Given the description of an element on the screen output the (x, y) to click on. 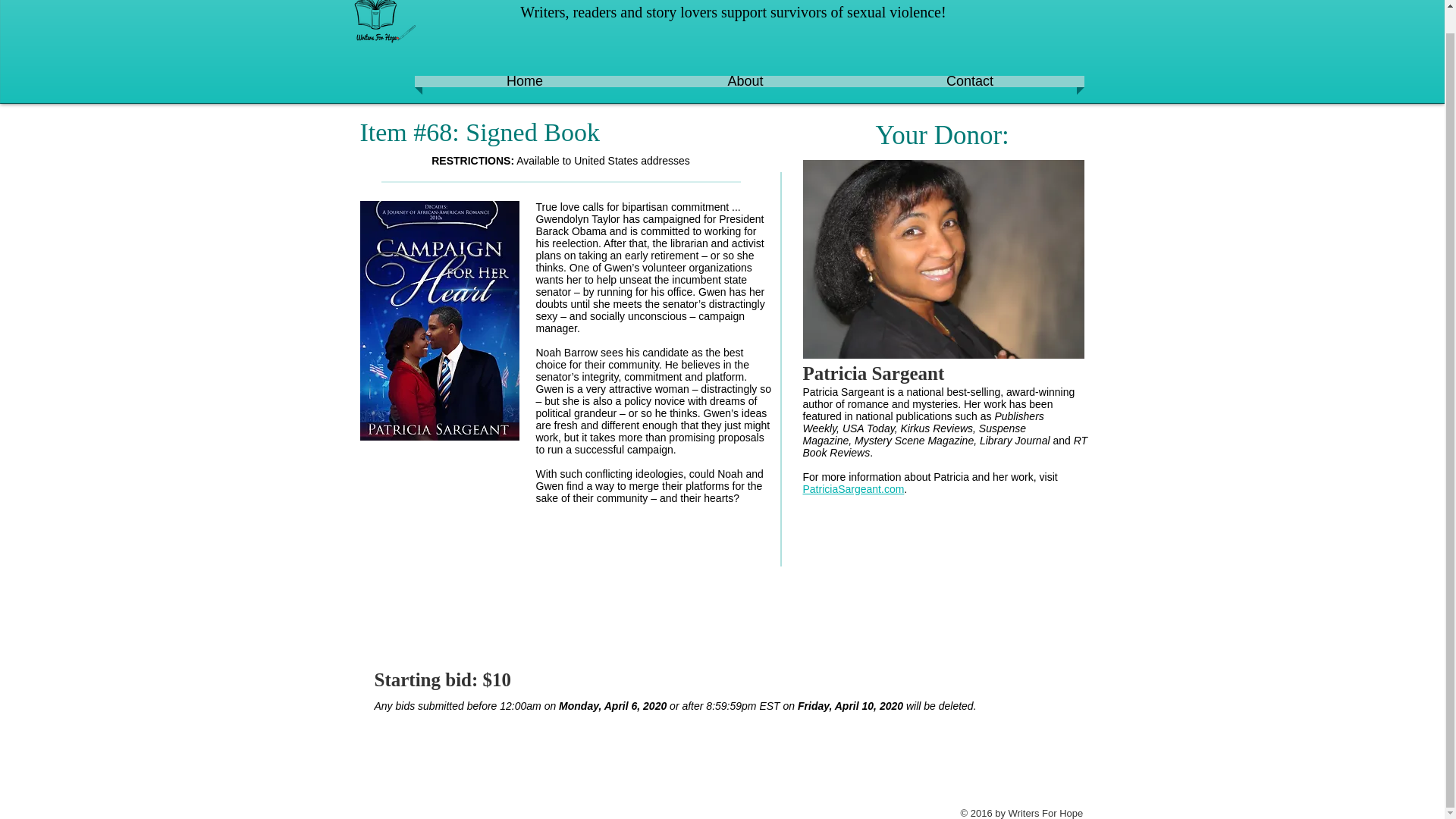
Sangeeta Mehta.jpg (942, 258)
Home (523, 81)
About (745, 81)
Contact (969, 81)
PatriciaSargeant.com (853, 489)
